Given the description of an element on the screen output the (x, y) to click on. 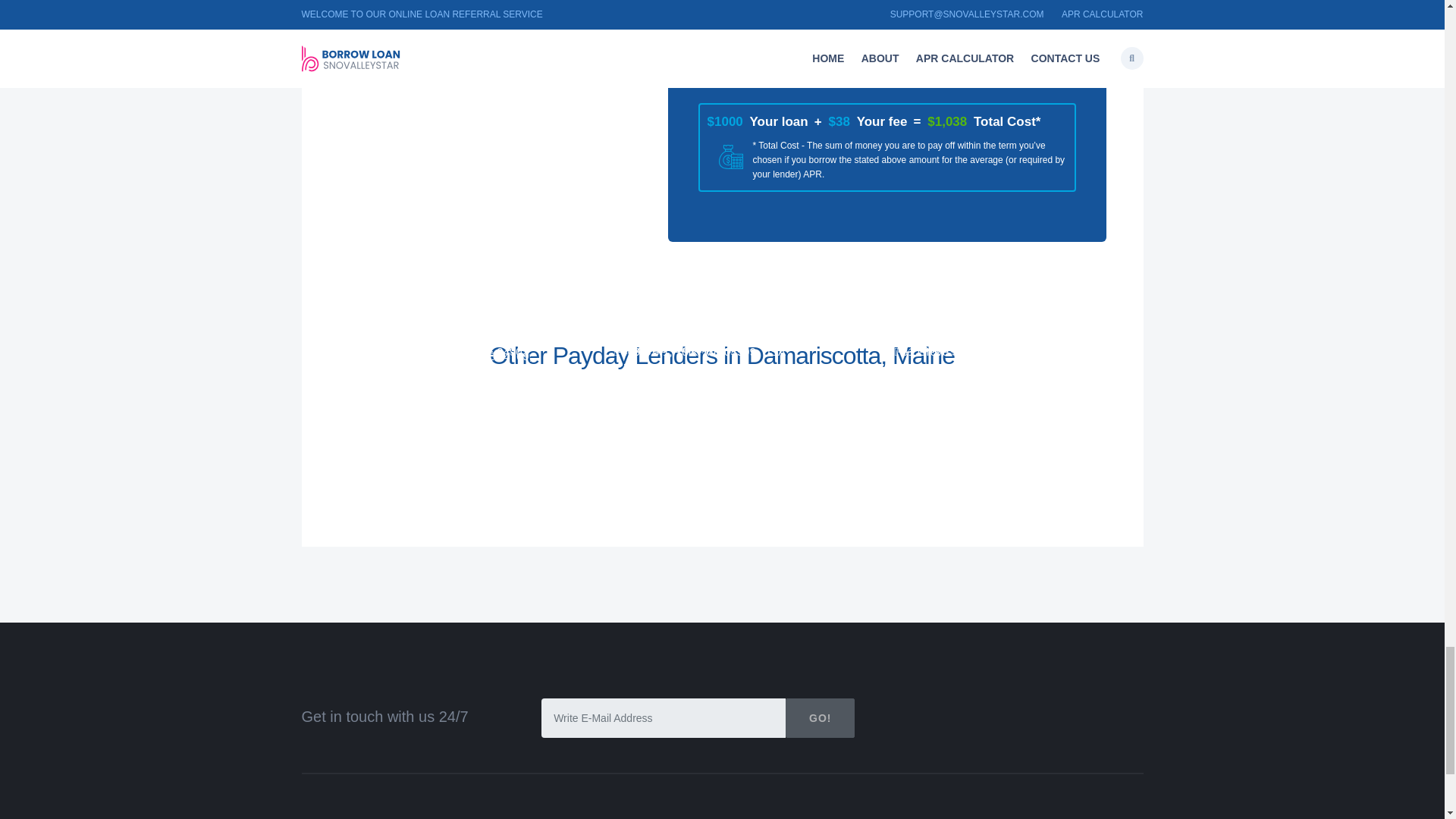
Citizens Bank ATM (675, 347)
TD Bank (923, 347)
Money Concepts (950, 369)
Maine State Credit Union (977, 324)
MySunny.loan (380, 324)
GO! (820, 717)
Five County Credit Union (697, 369)
TD Bank Administrative Offices (437, 369)
